Given the description of an element on the screen output the (x, y) to click on. 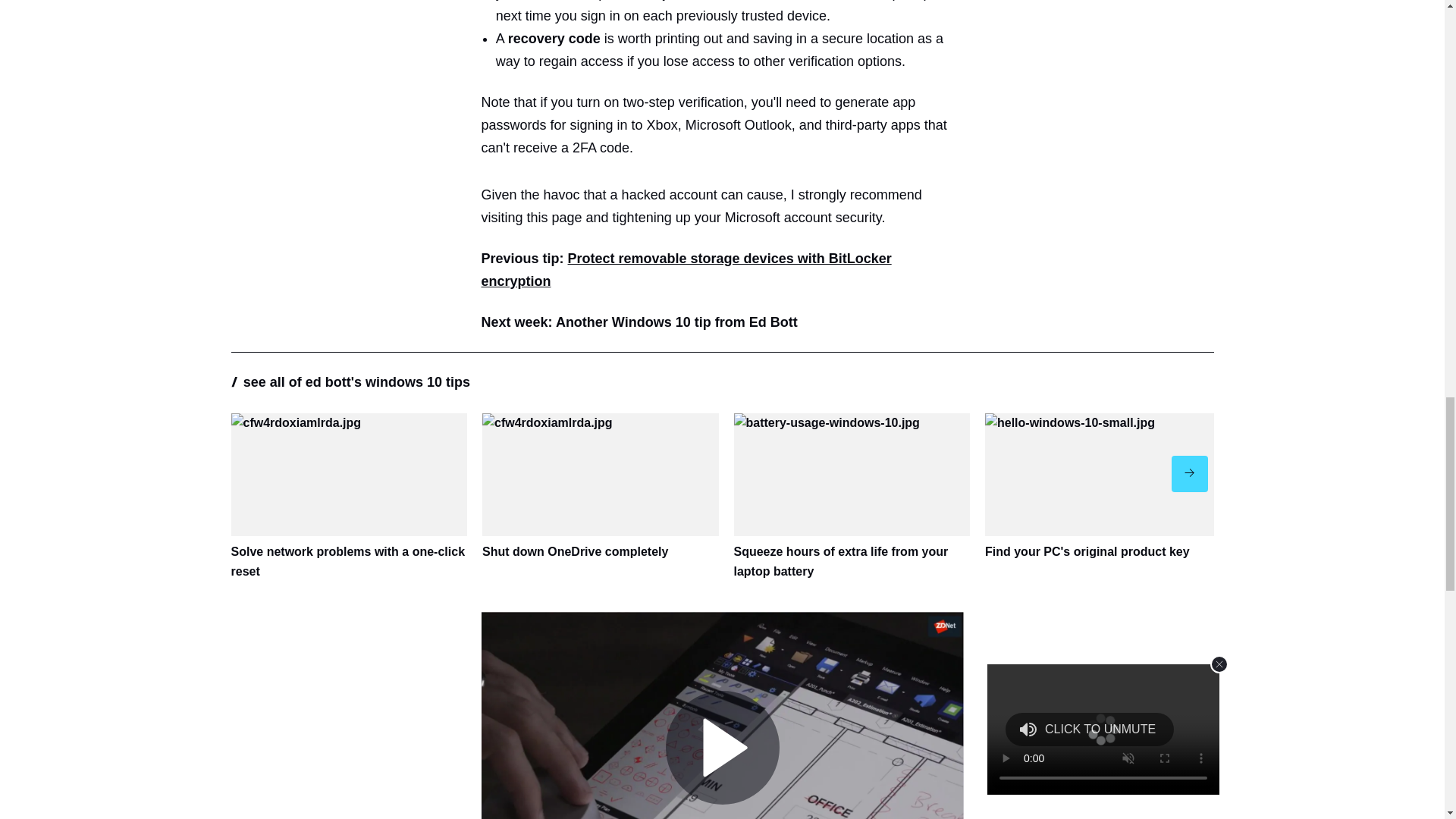
Shut down OneDrive completely (600, 487)
Solve network problems with a one-click reset (348, 497)
Squeeze hours of extra life from your laptop battery (852, 497)
Find your PC's original product key (1103, 487)
